Given the description of an element on the screen output the (x, y) to click on. 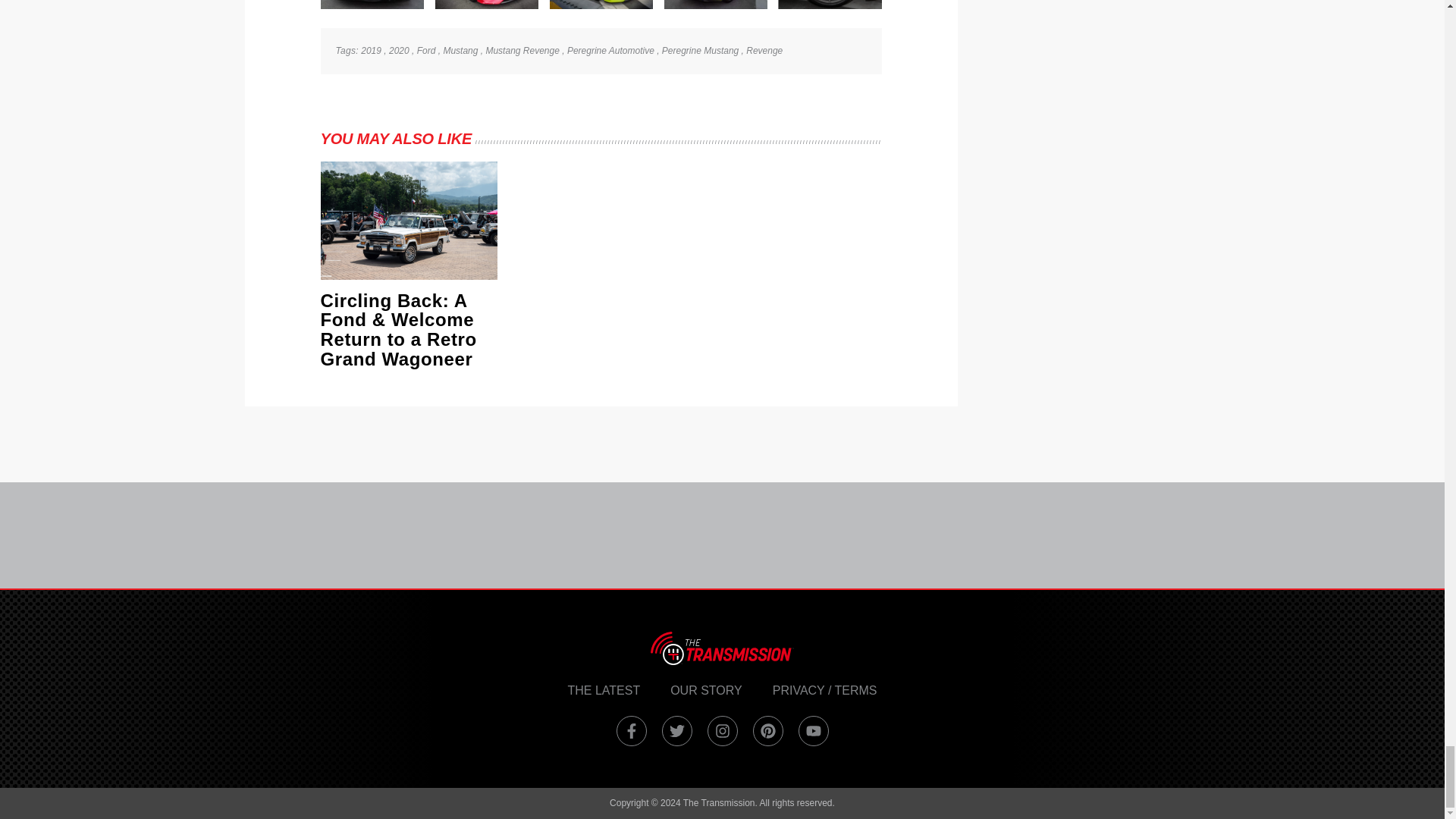
Mustang Revenge (521, 50)
Peregrine Automotive (610, 50)
2019 (371, 50)
VIEW 29 PHOTOS (829, 4)
YOU MAY ALSO LIKE (395, 138)
Peregrine Mustang (700, 50)
2020 (398, 50)
Ford (425, 50)
Revenge (764, 50)
THE LATEST (603, 689)
Mustang (459, 50)
